Given the description of an element on the screen output the (x, y) to click on. 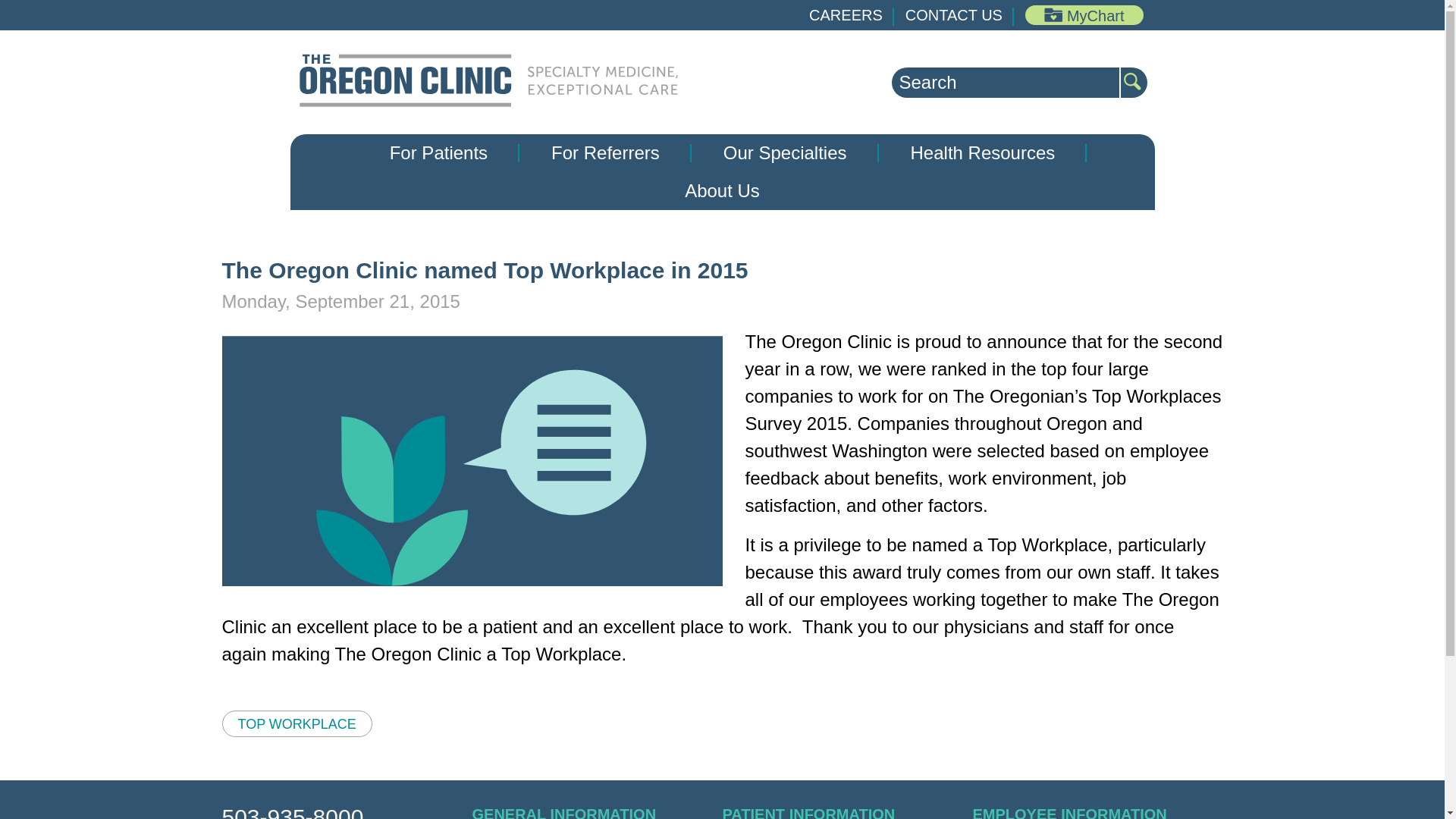
CAREERS (845, 15)
Search for: (1005, 81)
CONTACT US (954, 15)
MyChart (1083, 14)
